Given the description of an element on the screen output the (x, y) to click on. 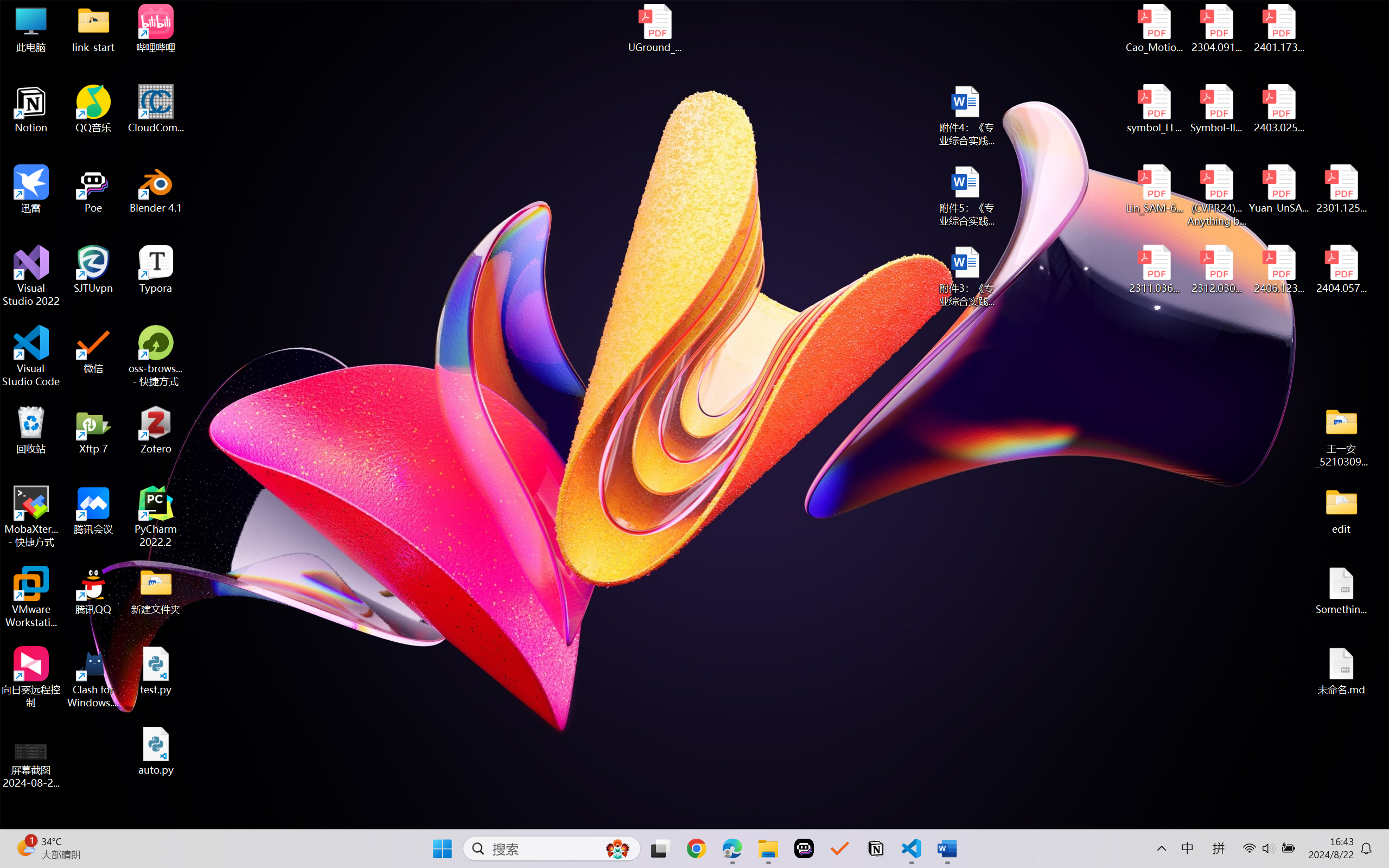
Symbol-llm-v2.pdf (1216, 109)
Xftp 7 (93, 430)
Blender 4.1 (156, 189)
PyCharm 2022.2 (156, 516)
Typora (156, 269)
